Given the description of an element on the screen output the (x, y) to click on. 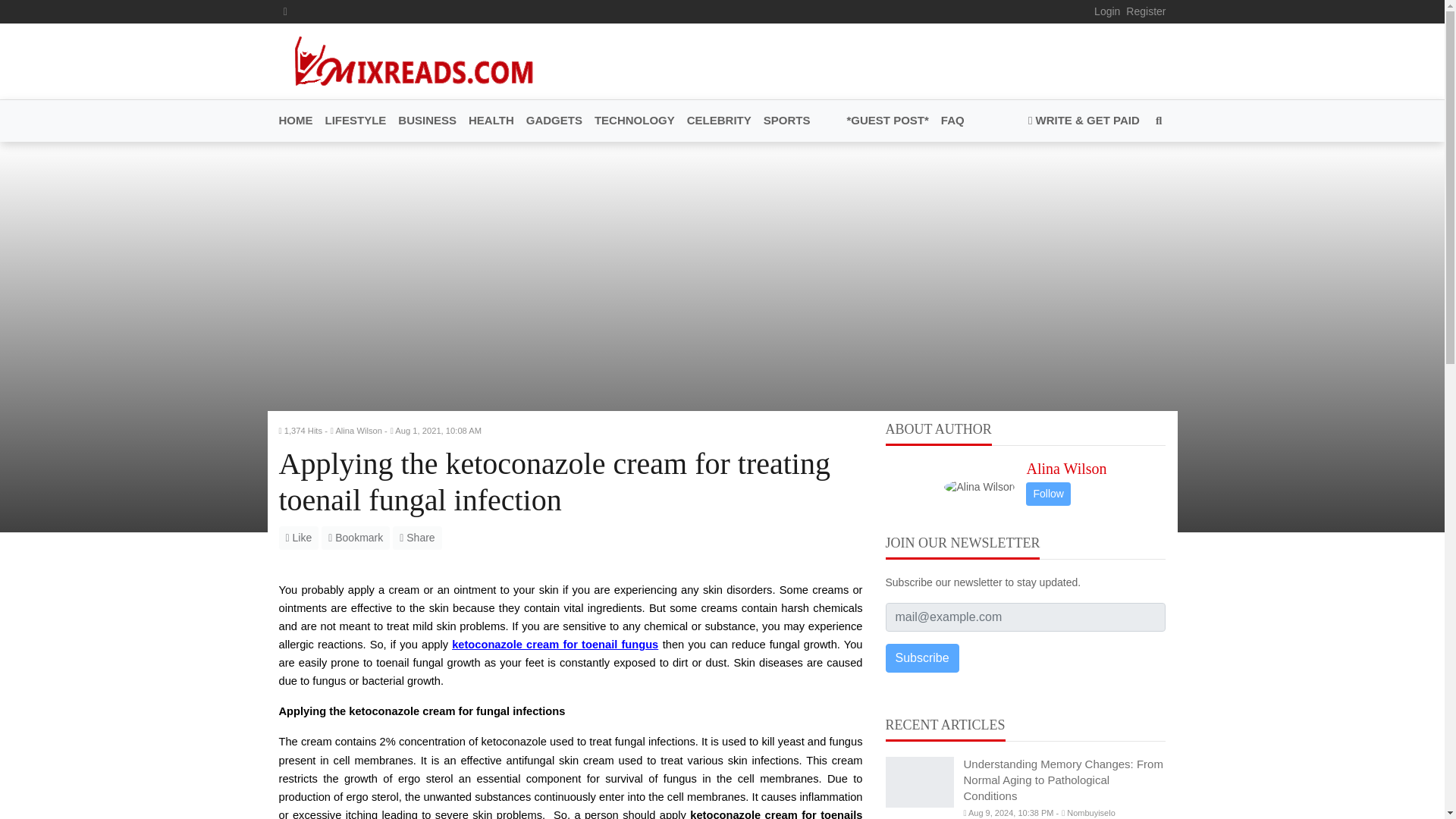
Subscribe (922, 656)
Twitter (285, 11)
HEALTH (491, 120)
Published on (438, 429)
ketoconazole cream for toenail fungus (554, 643)
Views (303, 429)
Alina Wilson (1066, 467)
Follow (1048, 494)
FAQ (948, 120)
